Given the description of an element on the screen output the (x, y) to click on. 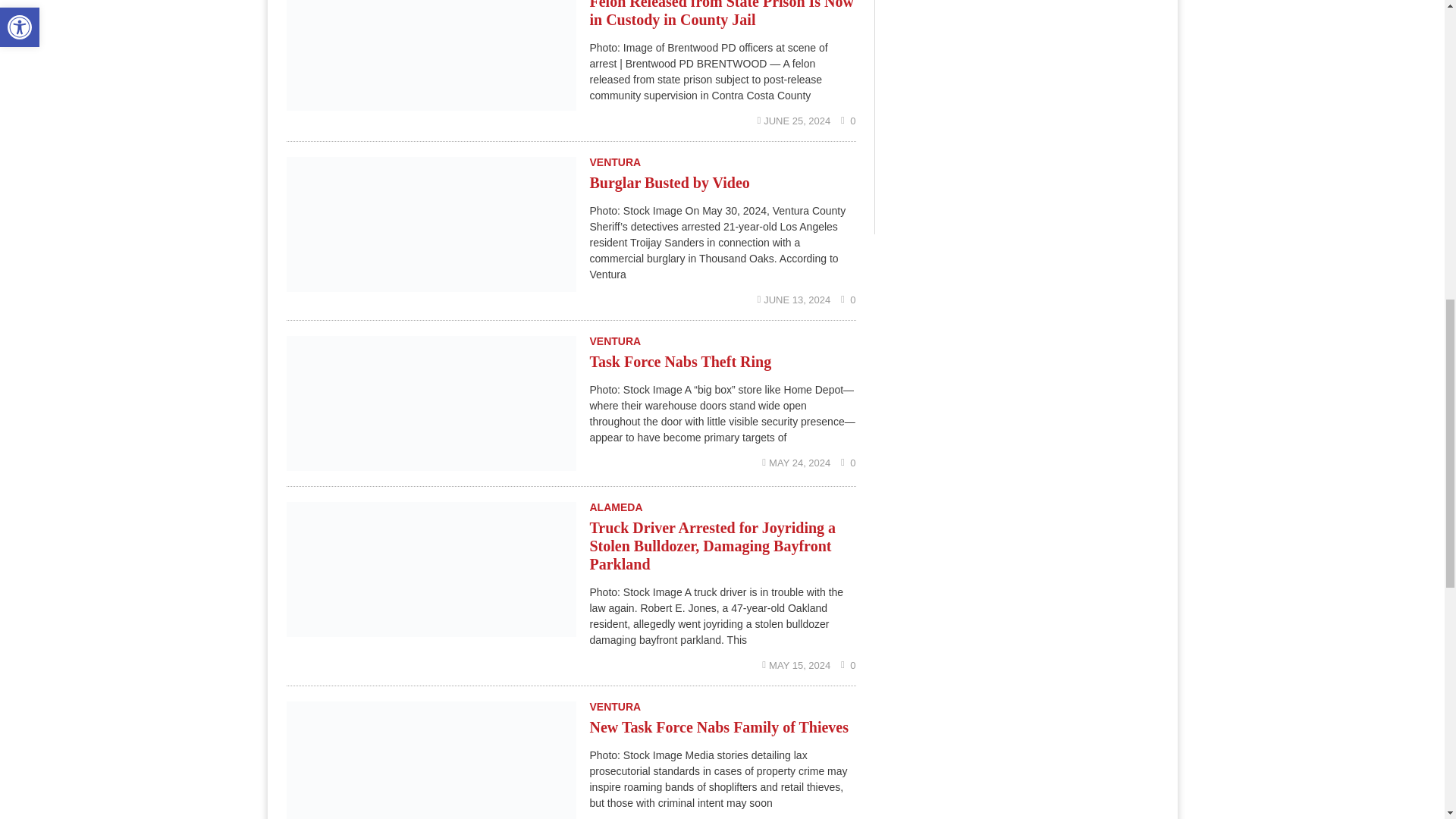
JUNE 13, 2024 (794, 299)
Burglar Busted by Video (669, 182)
VENTURA (615, 162)
JUNE 25, 2024 (794, 120)
0 (848, 120)
